Given the description of an element on the screen output the (x, y) to click on. 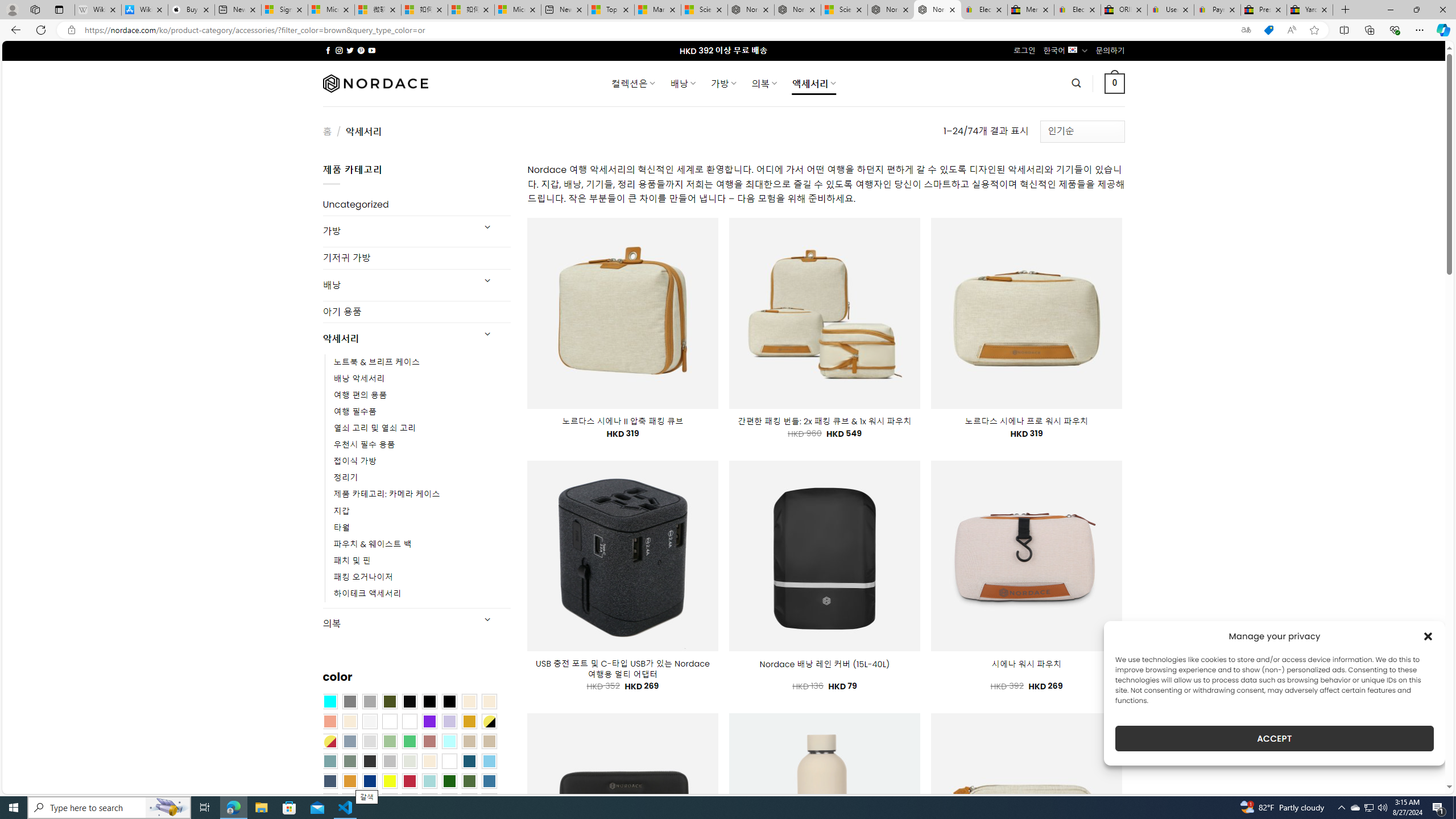
Marine life - MSN (656, 9)
Follow on Instagram (338, 50)
User Privacy Notice | eBay (1170, 9)
Microsoft account | Account Checkup (517, 9)
Follow on Twitter (349, 50)
